Given the description of an element on the screen output the (x, y) to click on. 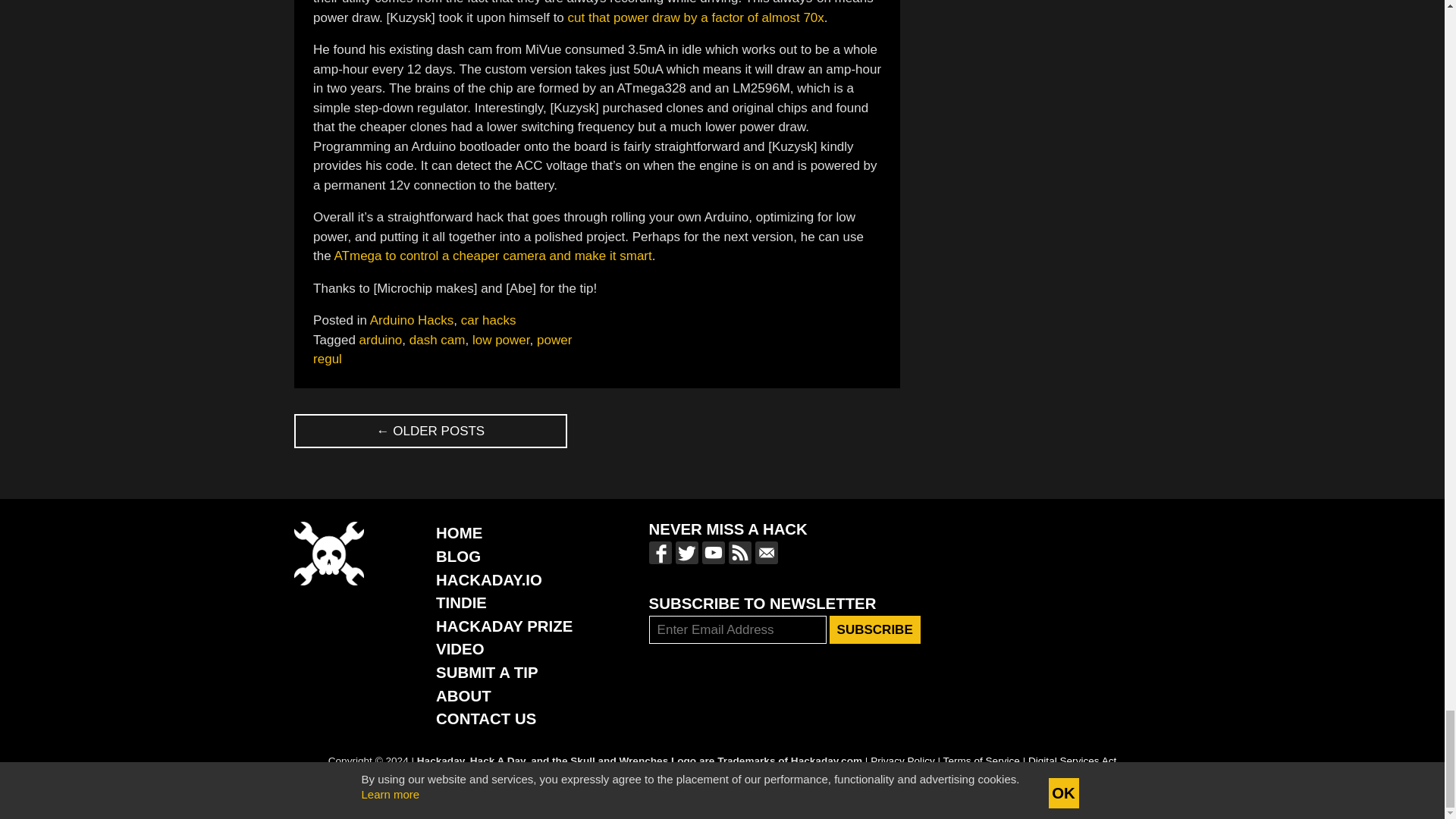
Subscribe (874, 629)
